Given the description of an element on the screen output the (x, y) to click on. 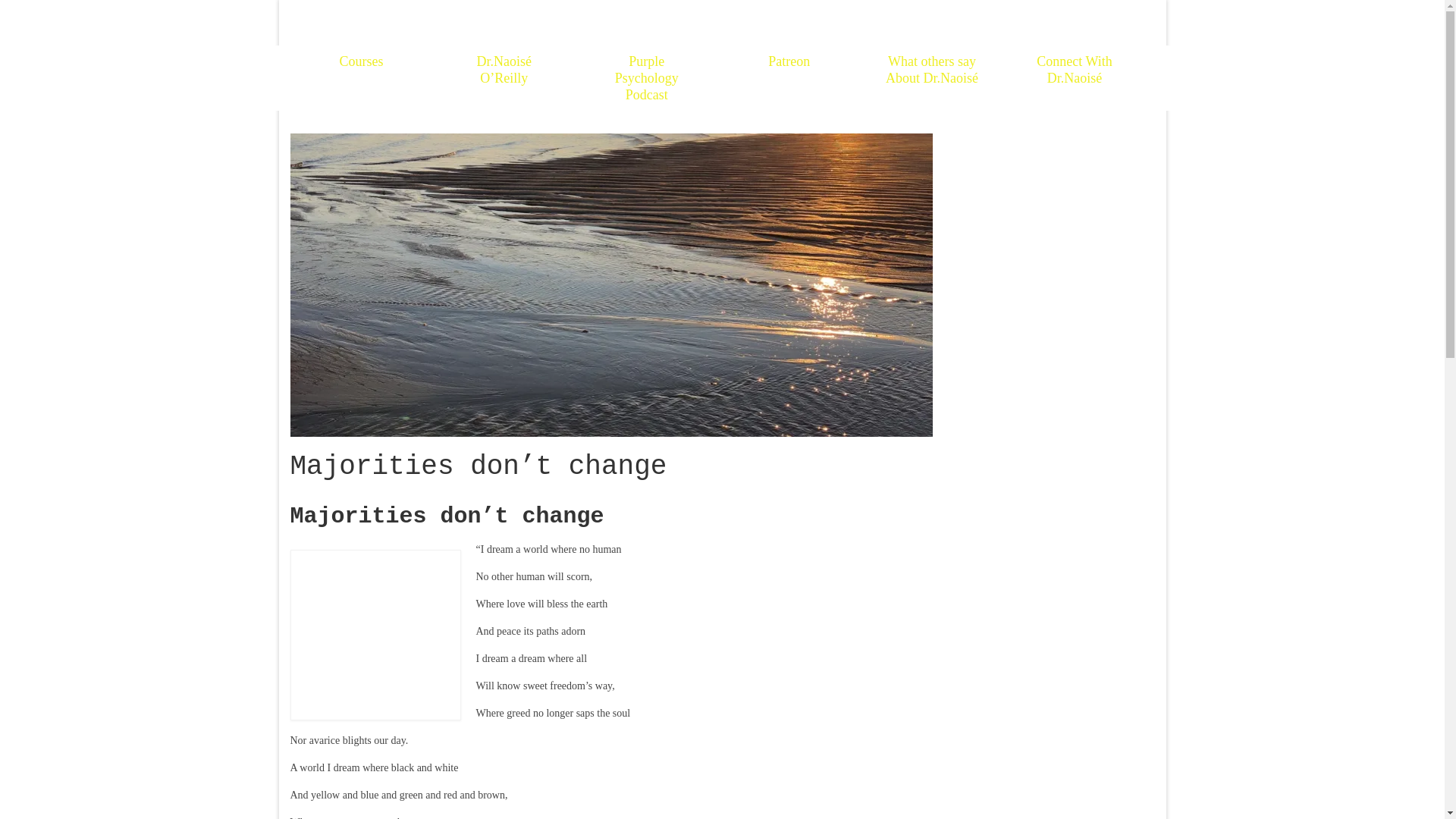
Courses (360, 60)
Patreon (788, 60)
